Given the description of an element on the screen output the (x, y) to click on. 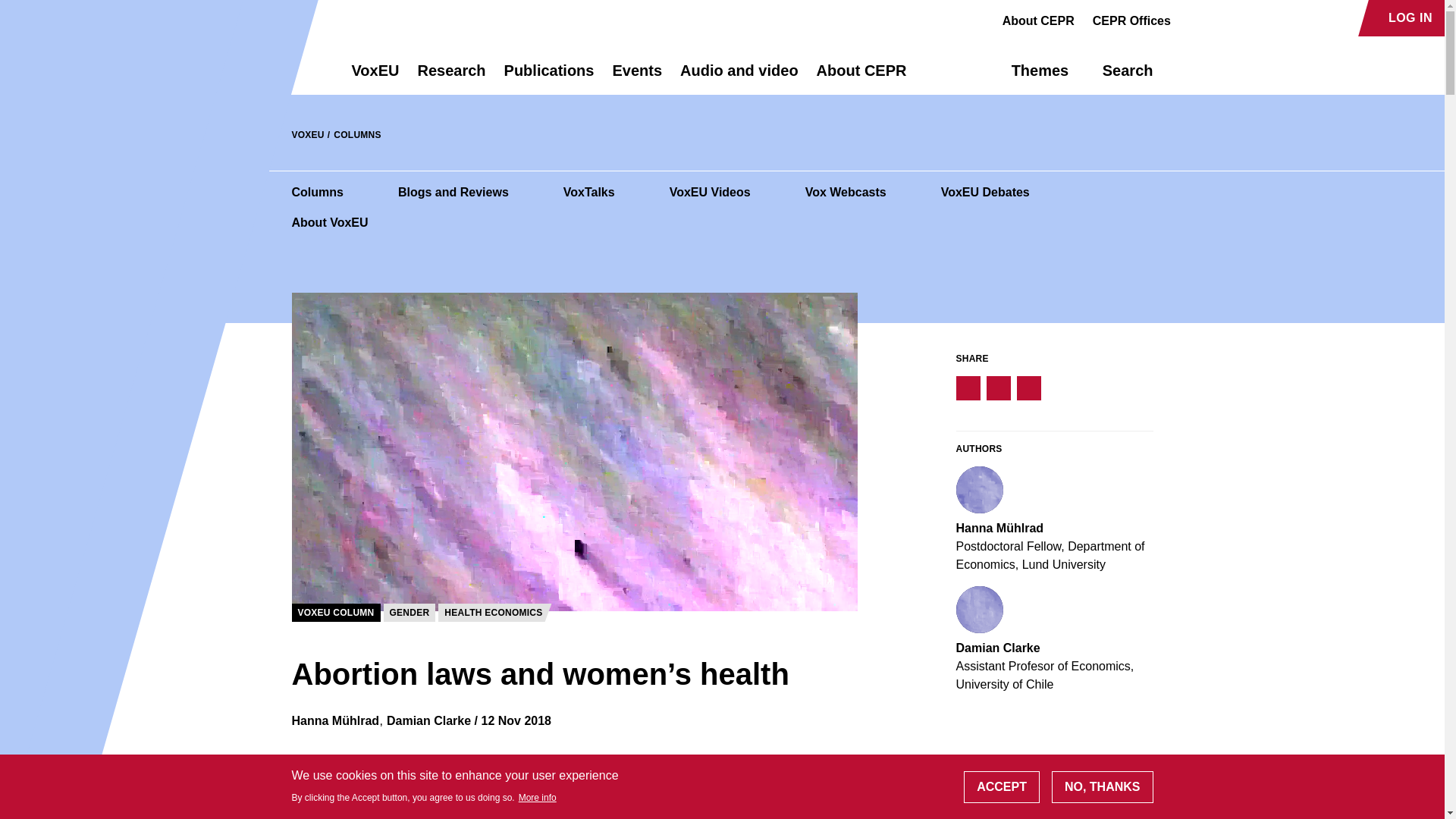
Research (450, 77)
Audio and video (738, 77)
Publications (548, 77)
Go to Linkedin profile (1243, 18)
Return to the homepage (293, 69)
Go to Audioboom profile (1217, 17)
Events (636, 77)
Go to Facebook profile (1190, 17)
VoxEU (375, 77)
